Given the description of an element on the screen output the (x, y) to click on. 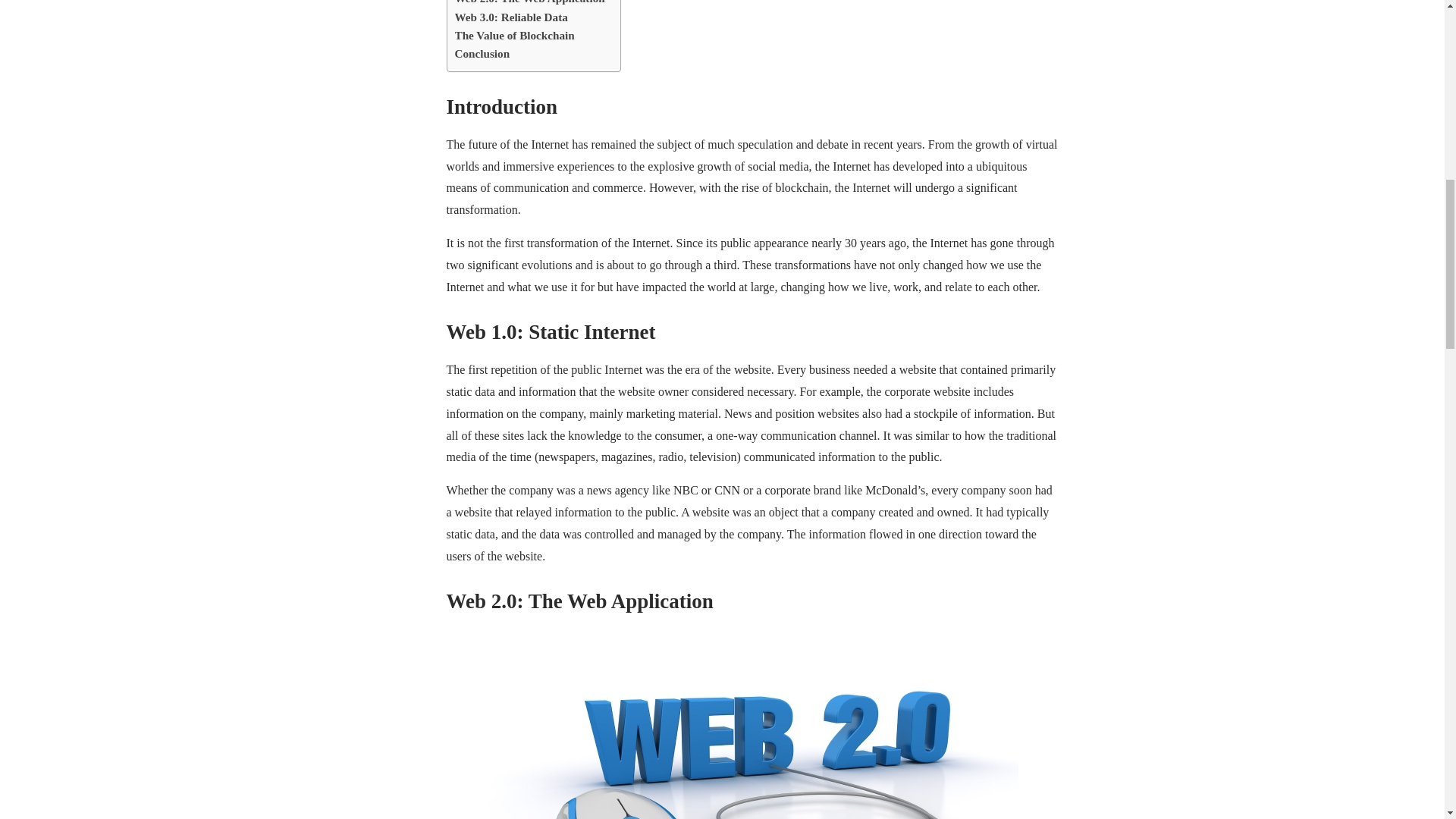
Web 3.0: Reliable Data (510, 17)
Web 2.0: The Web Application (529, 3)
Conclusion (482, 54)
The Value of Blockchain (514, 35)
